Given the description of an element on the screen output the (x, y) to click on. 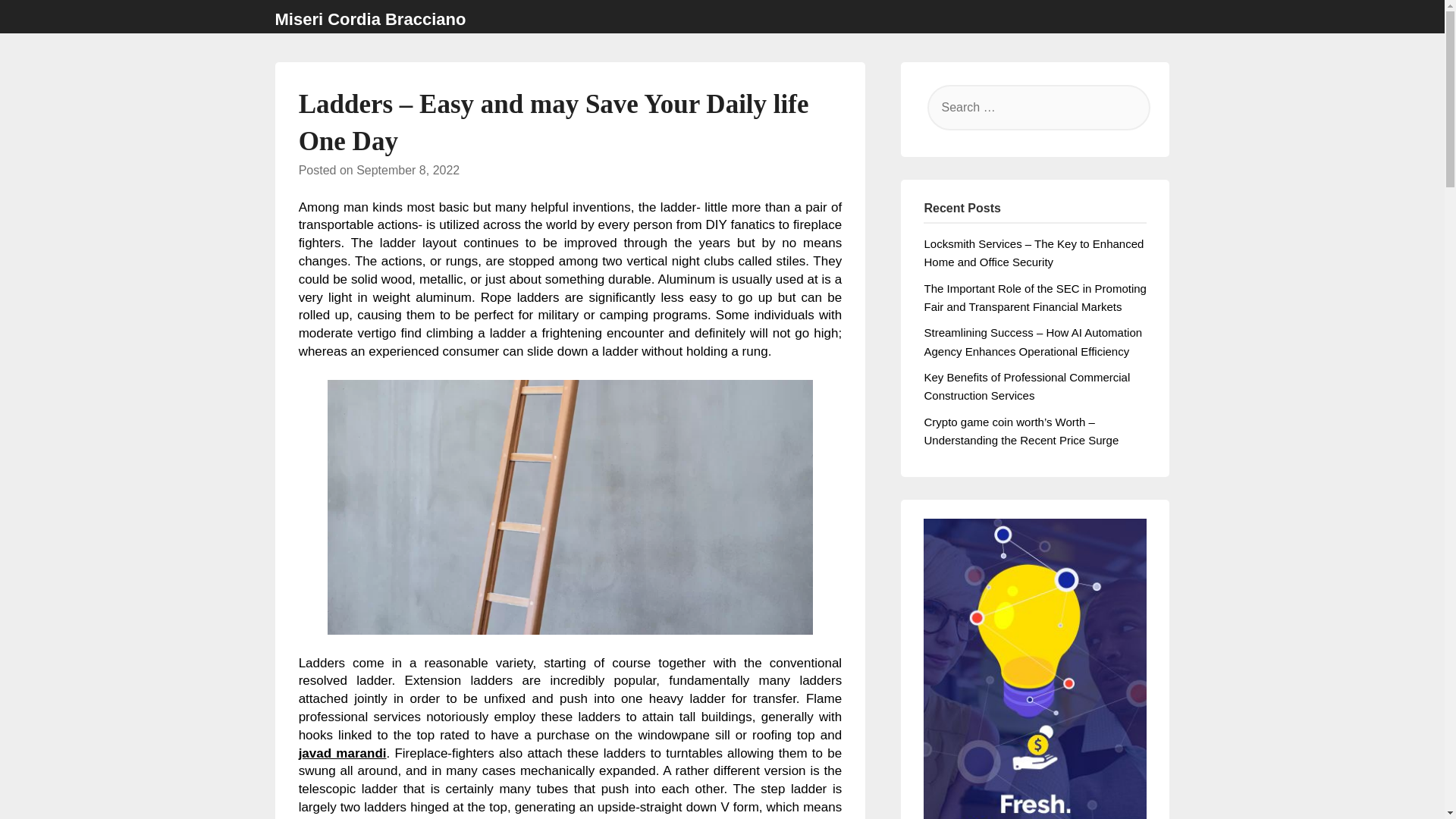
Miseri Cordia Bracciano (370, 19)
September 8, 2022 (408, 169)
Search (38, 22)
javad marandi (342, 753)
